Given the description of an element on the screen output the (x, y) to click on. 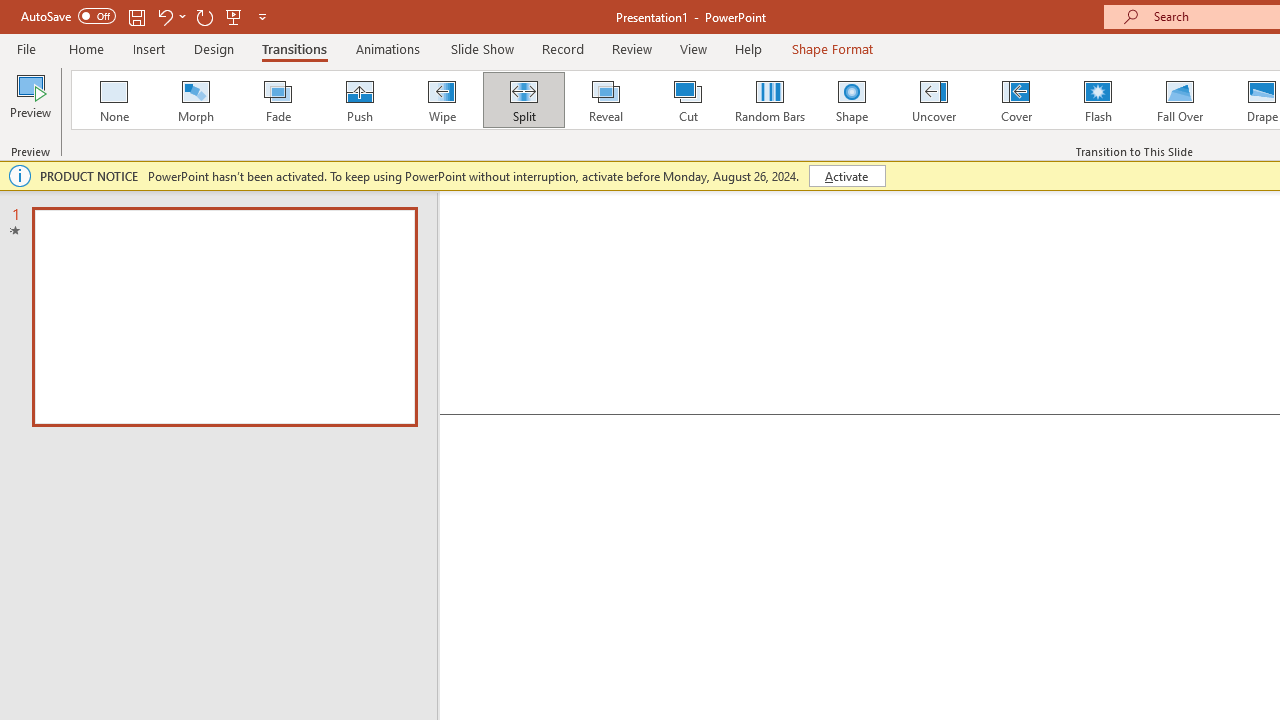
Shape (852, 100)
Split (523, 100)
Wipe (441, 100)
Reveal (605, 100)
